Given the description of an element on the screen output the (x, y) to click on. 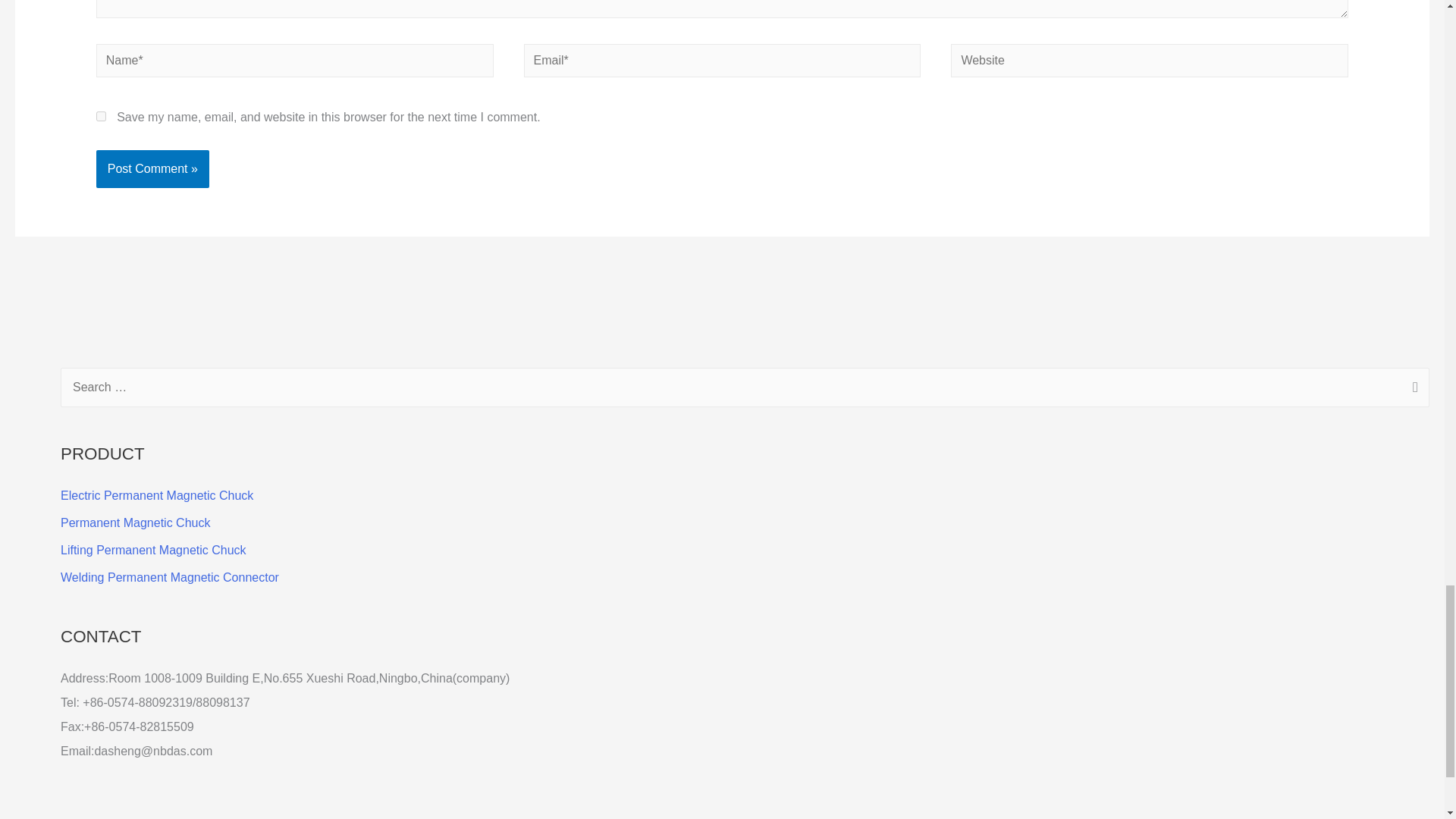
Permanent Magnetic Chuck (135, 522)
Welding Permanent Magnetic Connector (170, 576)
yes (101, 116)
Lifting Permanent Magnetic Chuck (153, 549)
Electric Permanent Magnetic Chuck (157, 495)
